Given the description of an element on the screen output the (x, y) to click on. 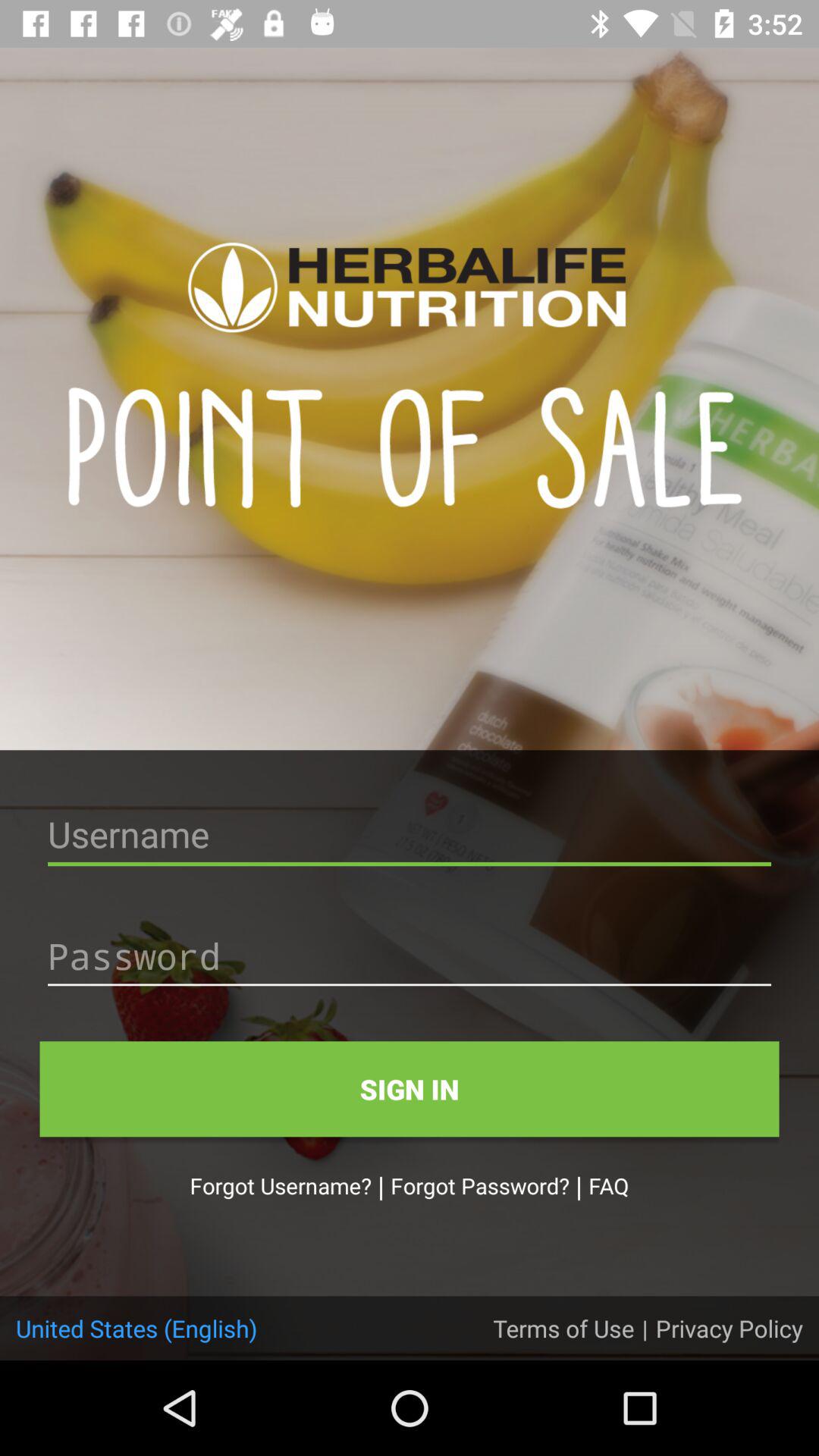
turn off terms of use item (563, 1328)
